Given the description of an element on the screen output the (x, y) to click on. 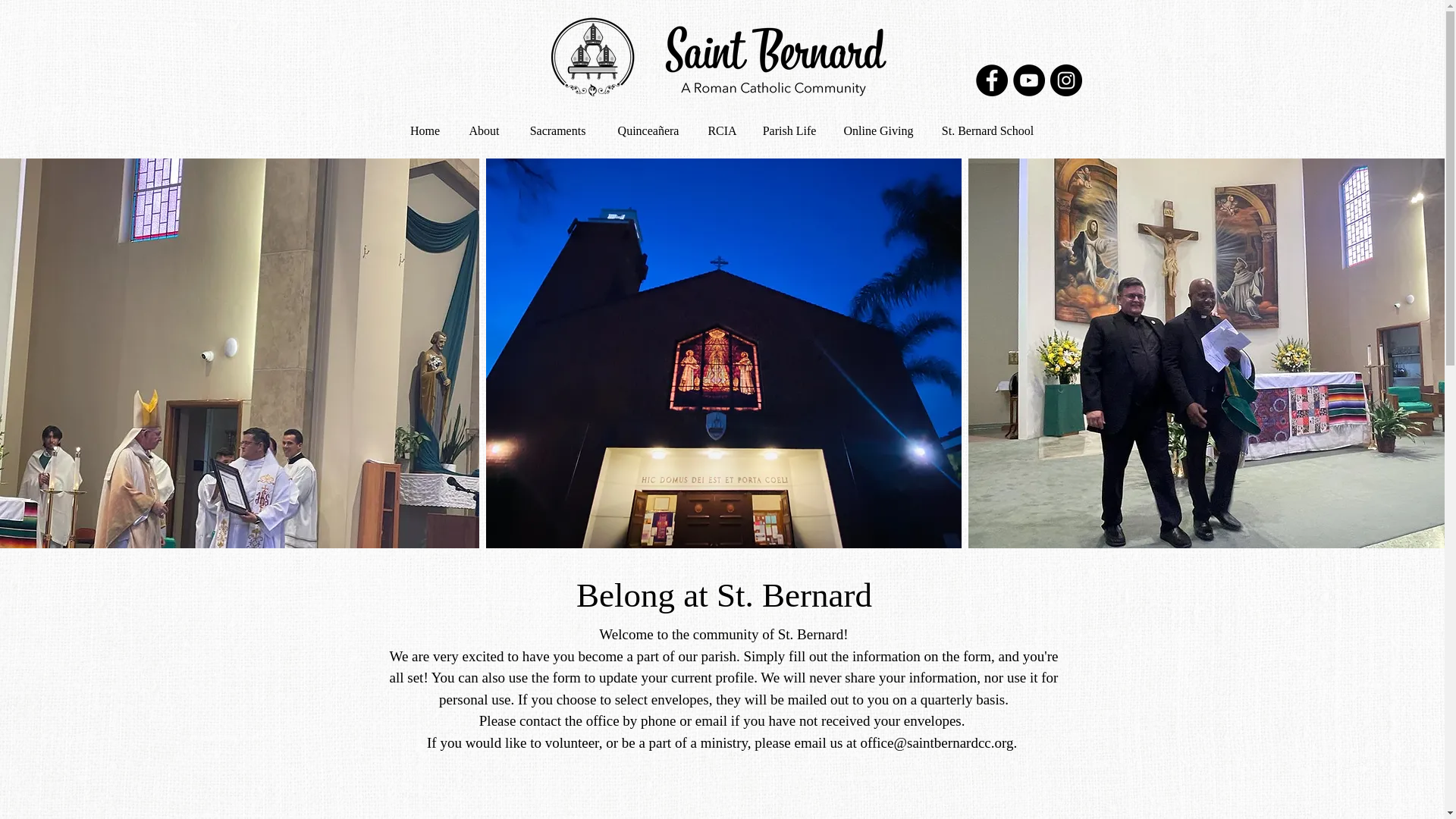
St. Bernard School (986, 130)
RCIA (721, 130)
Online Giving (878, 130)
Home (424, 130)
